Given the description of an element on the screen output the (x, y) to click on. 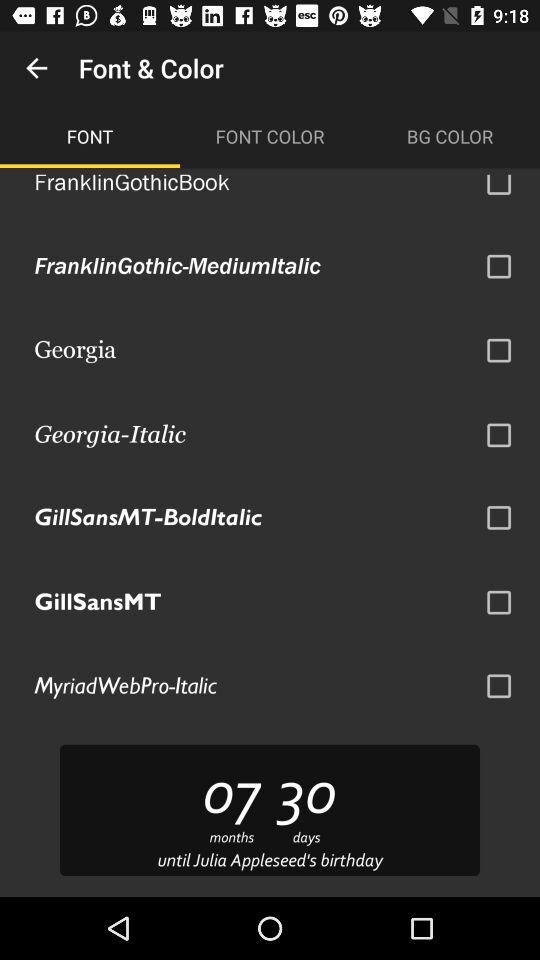
open the bg color icon (450, 136)
